Given the description of an element on the screen output the (x, y) to click on. 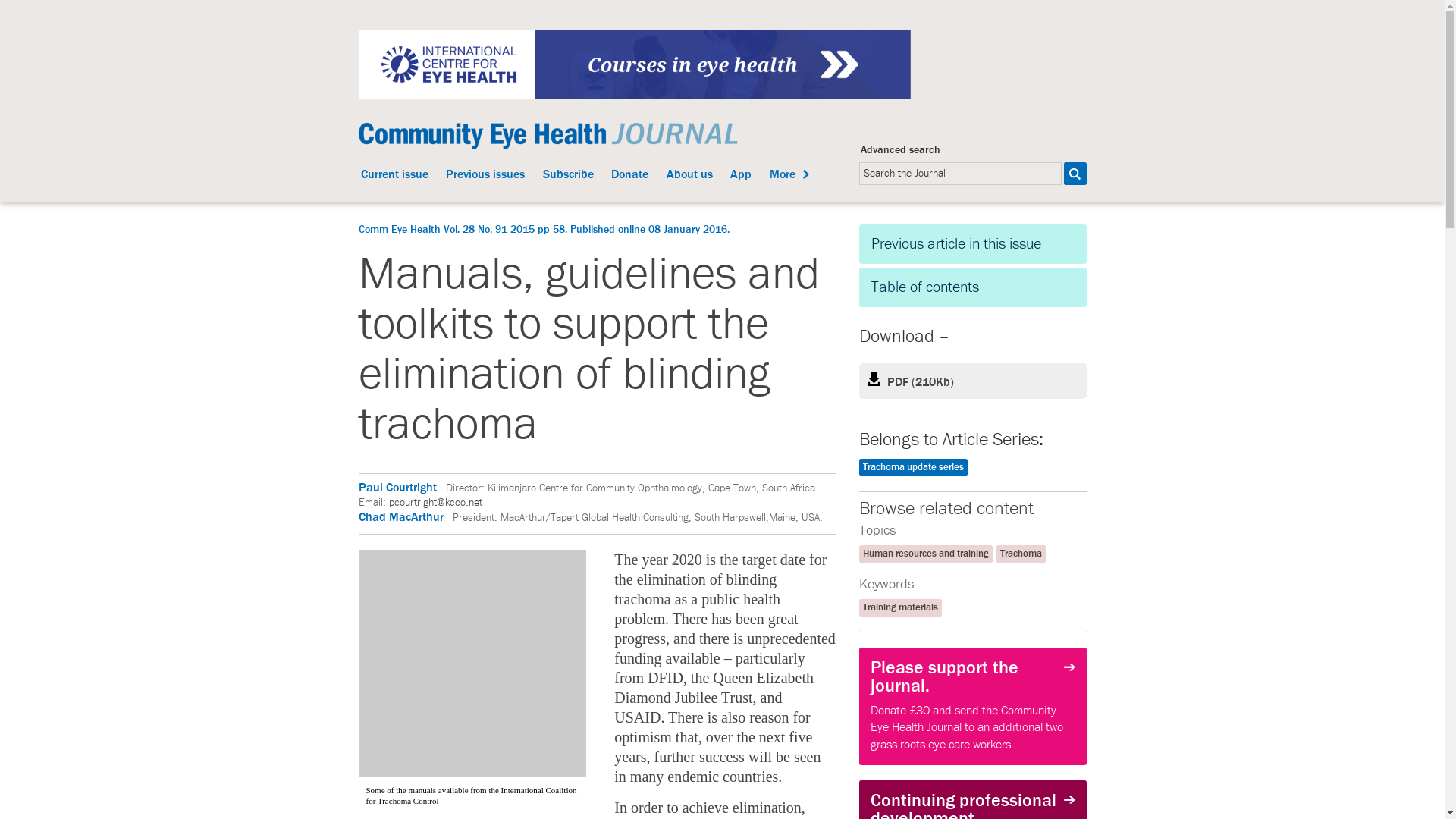
Subscribe (568, 175)
search (1074, 173)
About us (688, 175)
Advanced search (900, 149)
Search the Journal (960, 173)
search (1074, 173)
App (740, 175)
Table of contents: Eye injuries: improving our practice (972, 287)
Caring for A- and B-scans (972, 243)
Previous issues (485, 175)
